Given the description of an element on the screen output the (x, y) to click on. 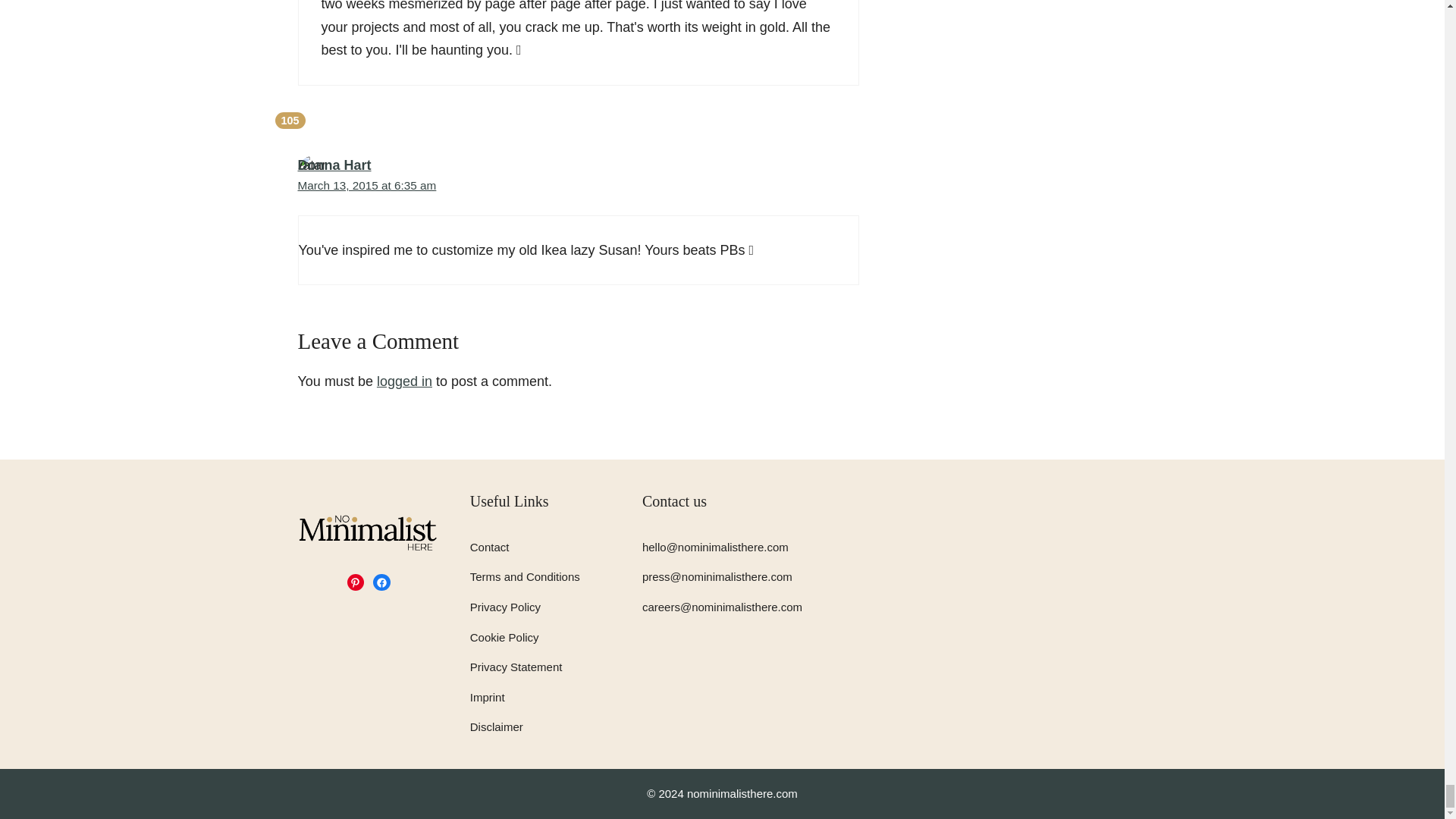
cropped-nominimalisthere-logo.png (368, 531)
